Given the description of an element on the screen output the (x, y) to click on. 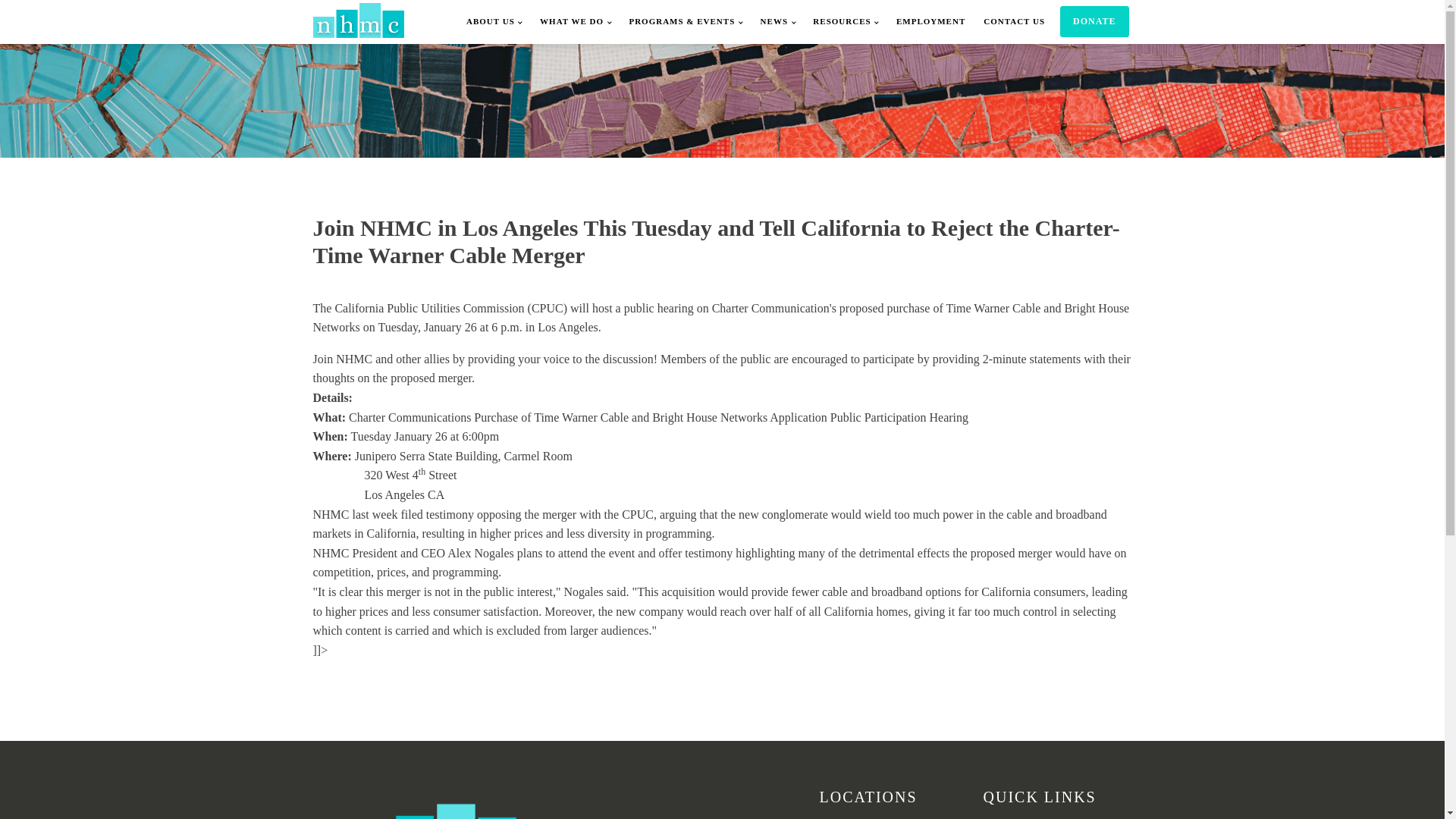
WHAT WE DO (575, 22)
RESOURCES (844, 22)
NEWS (778, 22)
ABOUT US (494, 22)
